Given the description of an element on the screen output the (x, y) to click on. 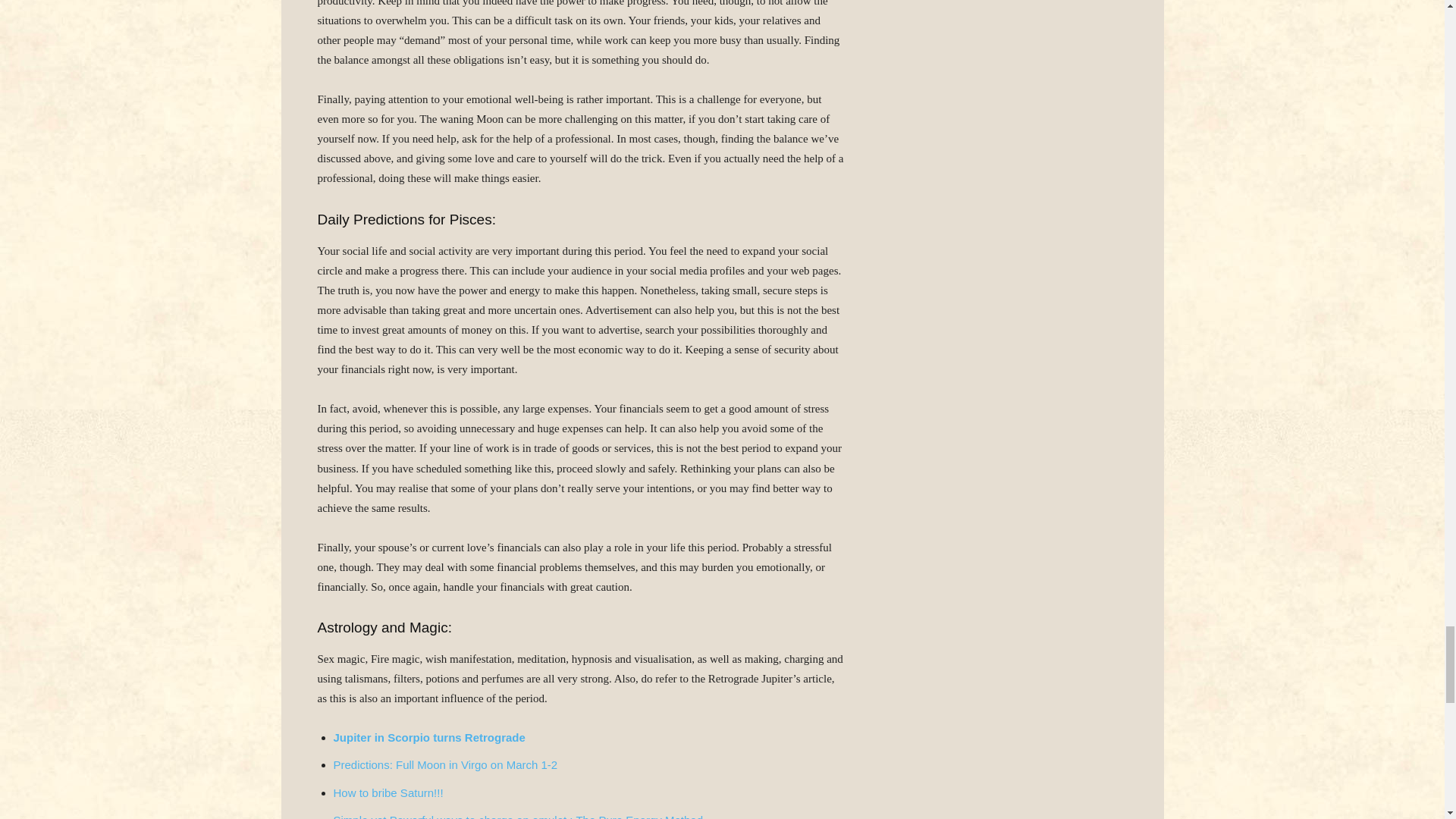
Predictions: Full Moon in Virgo on March 1-2 (445, 764)
Jupiter in Scorpio turns Retrograde (429, 737)
How to bribe Saturn!!! (388, 792)
